Given the description of an element on the screen output the (x, y) to click on. 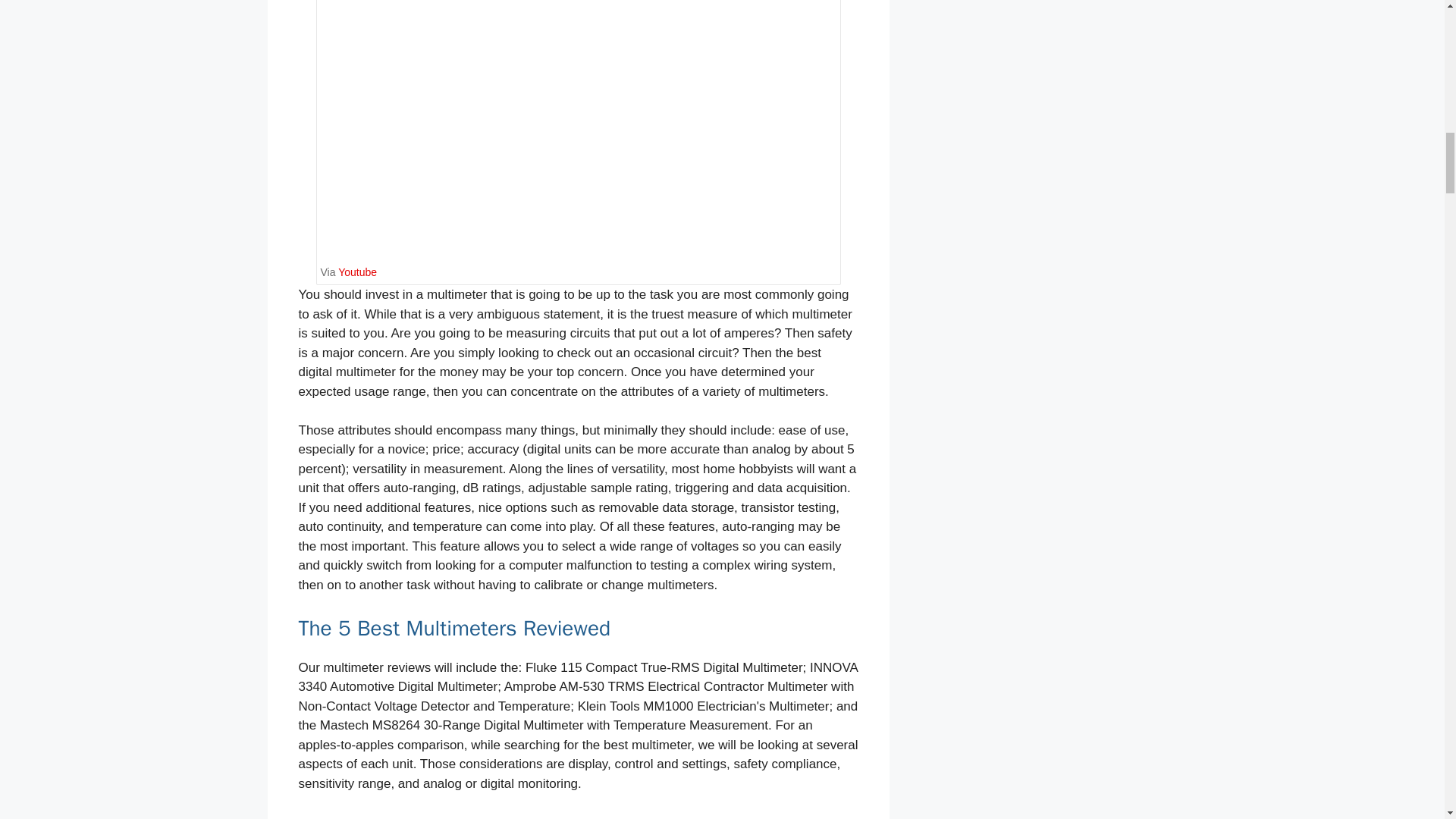
Youtube (357, 272)
